Given the description of an element on the screen output the (x, y) to click on. 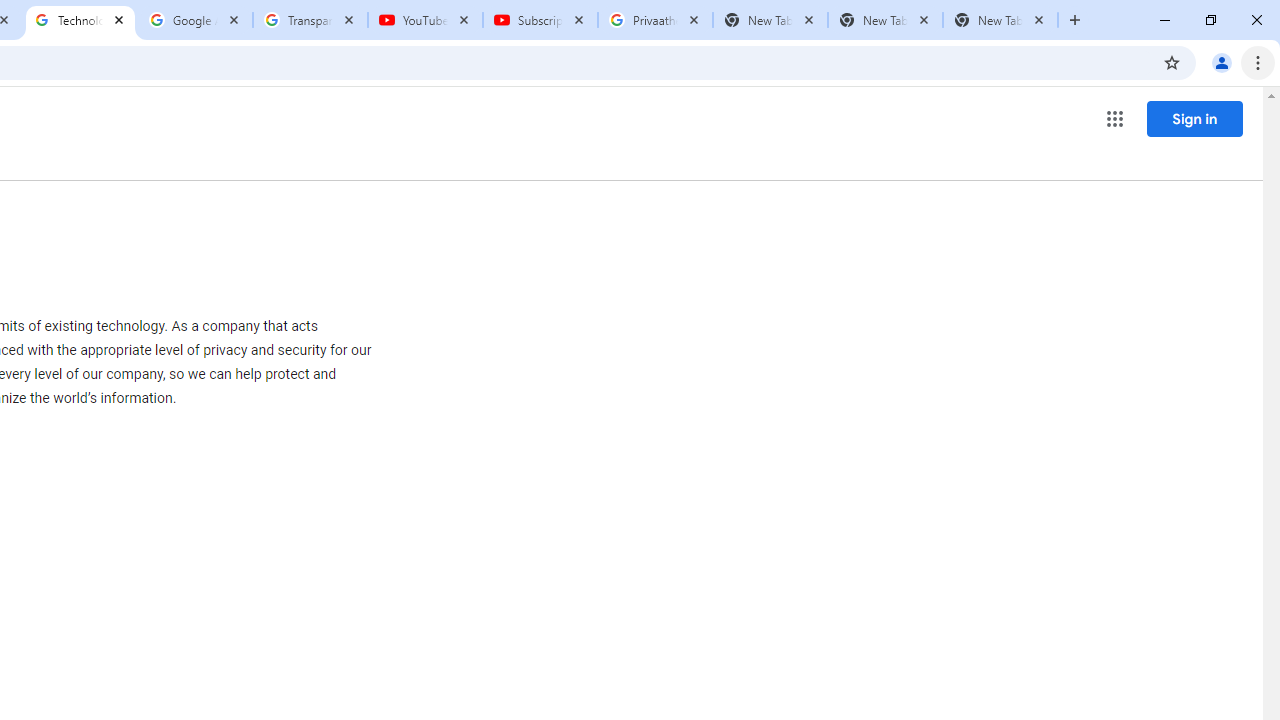
Sign in (1194, 118)
YouTube (424, 20)
Google apps (1114, 118)
New Tab (1000, 20)
Google Account (195, 20)
Subscriptions - YouTube (539, 20)
